Given the description of an element on the screen output the (x, y) to click on. 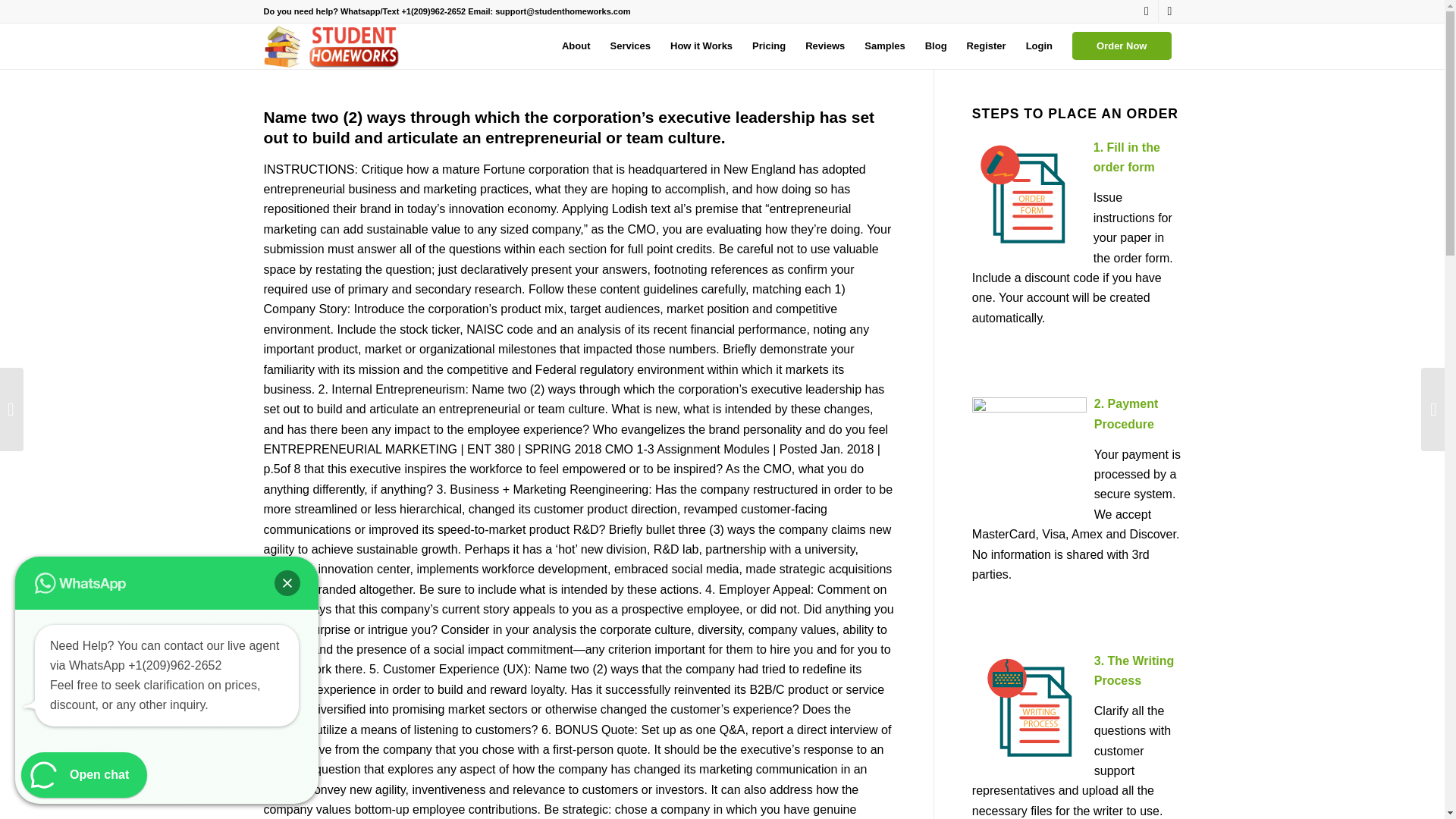
Reviews (824, 45)
Close (287, 583)
Dribbble (1169, 11)
Login (1039, 45)
Register (986, 45)
Pricing (768, 45)
Services (630, 45)
Twitter (1146, 11)
About (575, 45)
Samples (884, 45)
Asset-3 (334, 45)
How it Works (701, 45)
Blog (935, 45)
Order Now (1121, 45)
